Given the description of an element on the screen output the (x, y) to click on. 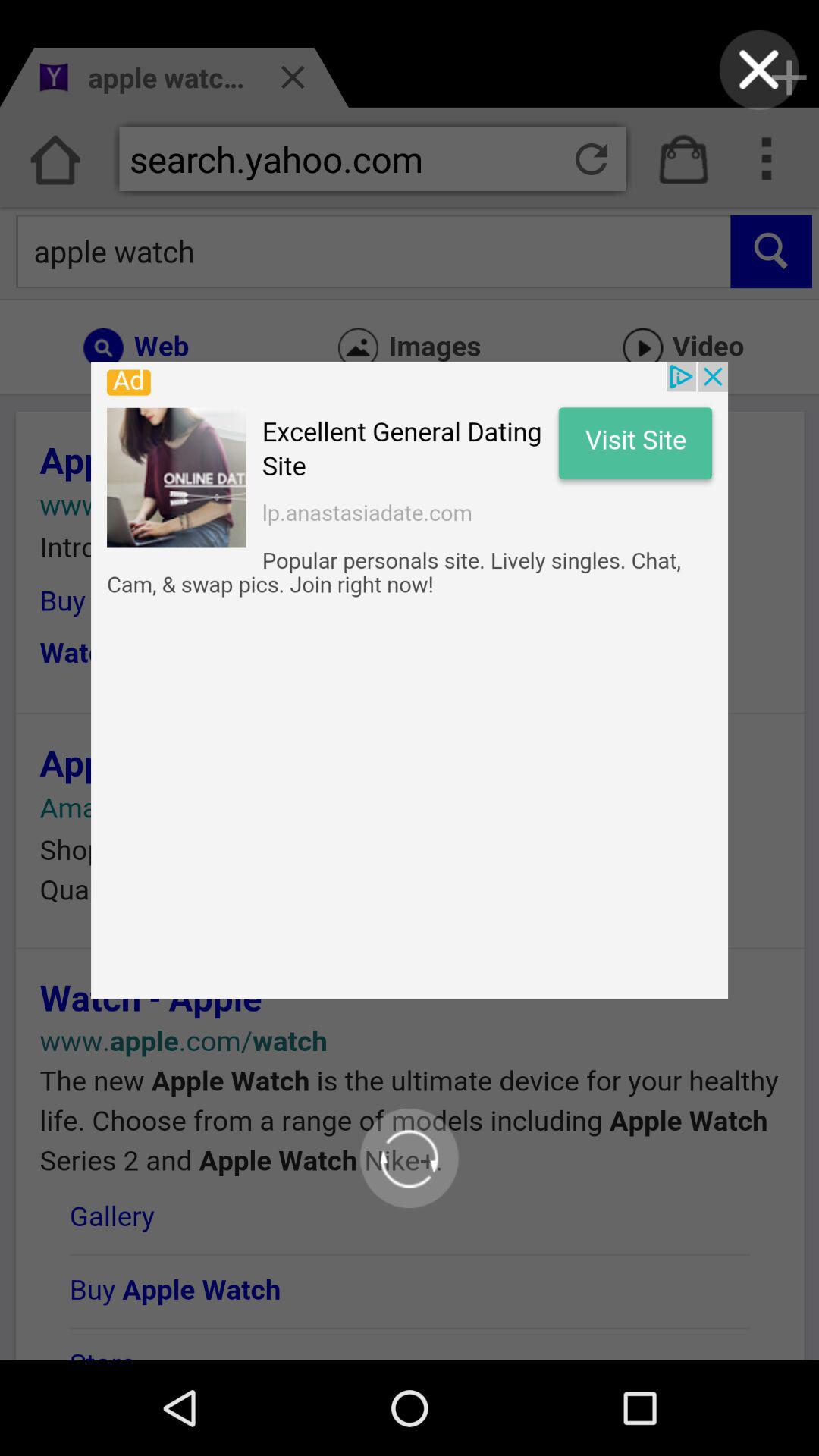
advertisement (409, 679)
